Given the description of an element on the screen output the (x, y) to click on. 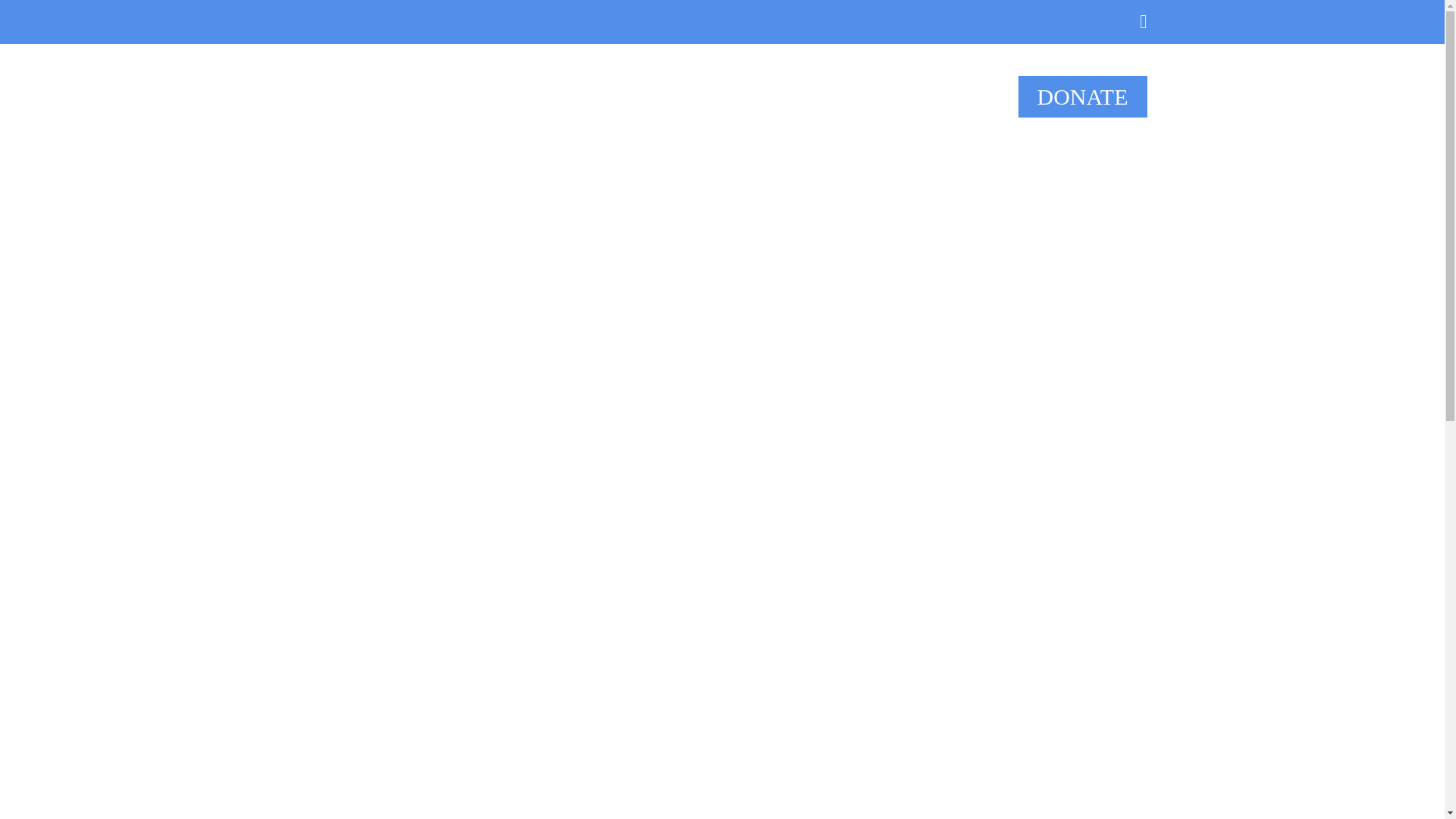
DONATE (1082, 96)
